Given the description of an element on the screen output the (x, y) to click on. 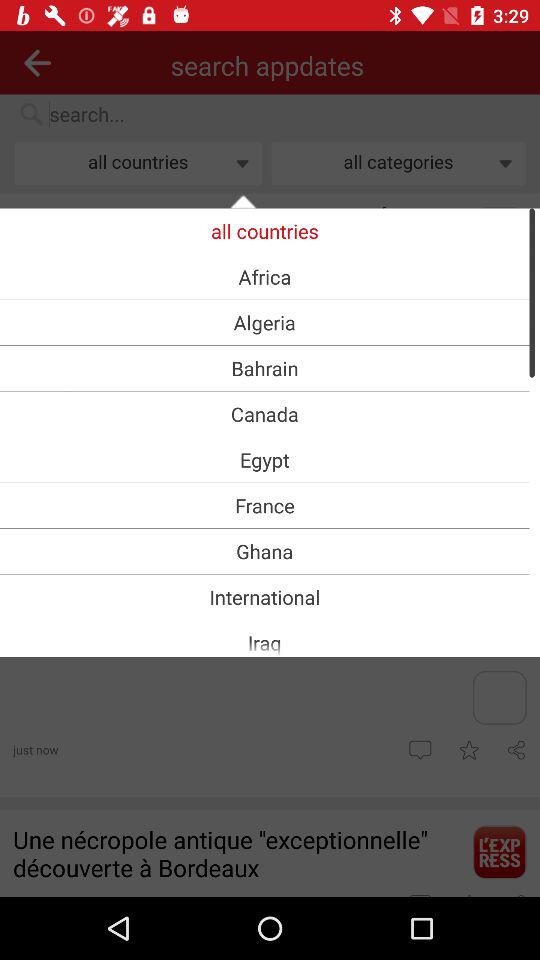
click item below all countries item (264, 276)
